Given the description of an element on the screen output the (x, y) to click on. 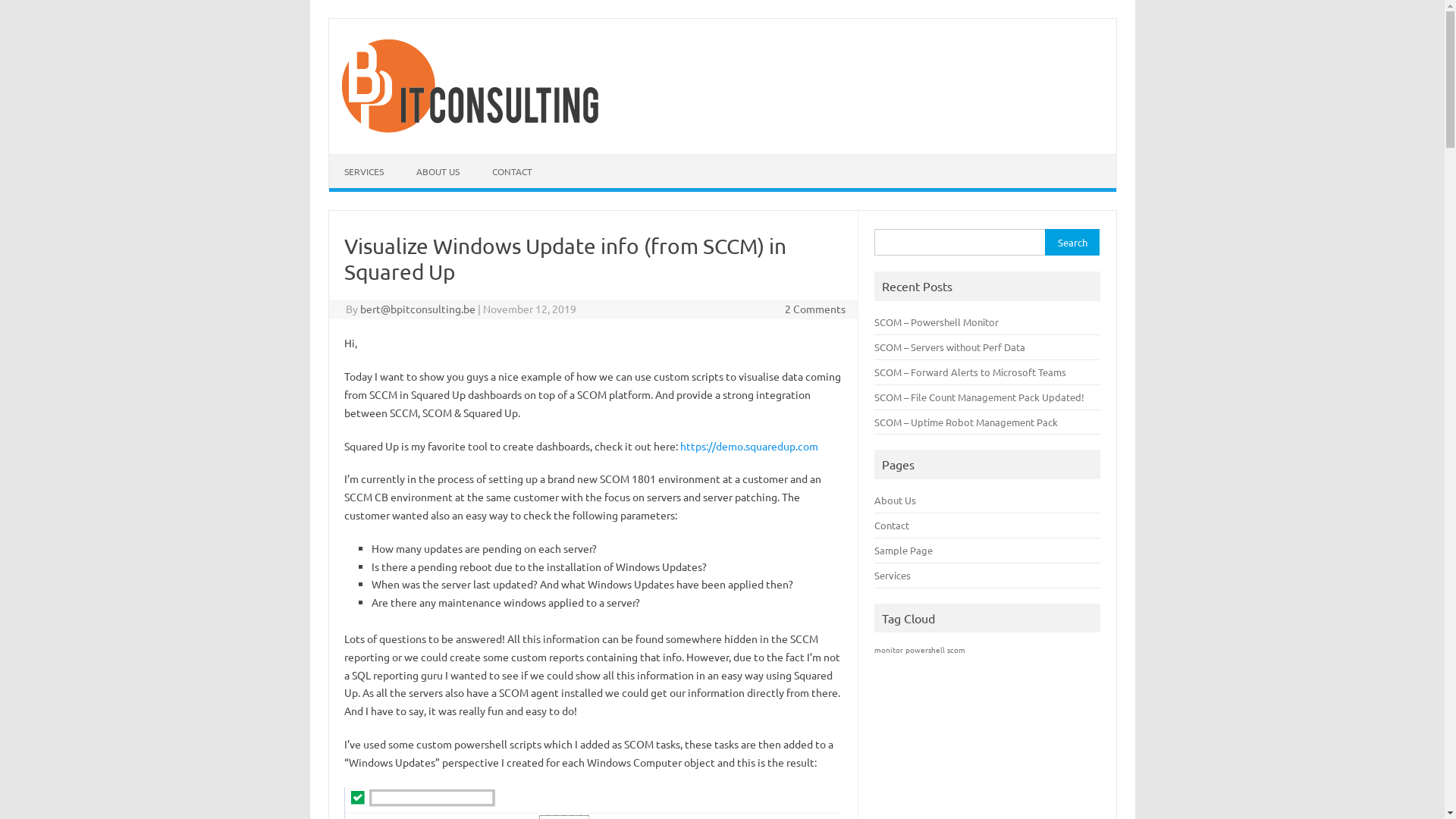
Search Element type: text (1071, 242)
About Us Element type: text (895, 499)
CONTACT Element type: text (511, 171)
Skip to content Element type: text (365, 158)
https://demo.squaredup.com  Element type: text (750, 445)
monitor Element type: text (888, 649)
2 Comments Element type: text (814, 308)
scom Element type: text (956, 649)
bpitconsulting Element type: hover (469, 127)
Services Element type: text (892, 574)
bert@bpitconsulting.be Element type: text (417, 308)
ABOUT US Element type: text (436, 171)
powershell Element type: text (924, 649)
Sample Page Element type: text (903, 549)
SERVICES Element type: text (363, 171)
Contact Element type: text (891, 524)
